Given the description of an element on the screen output the (x, y) to click on. 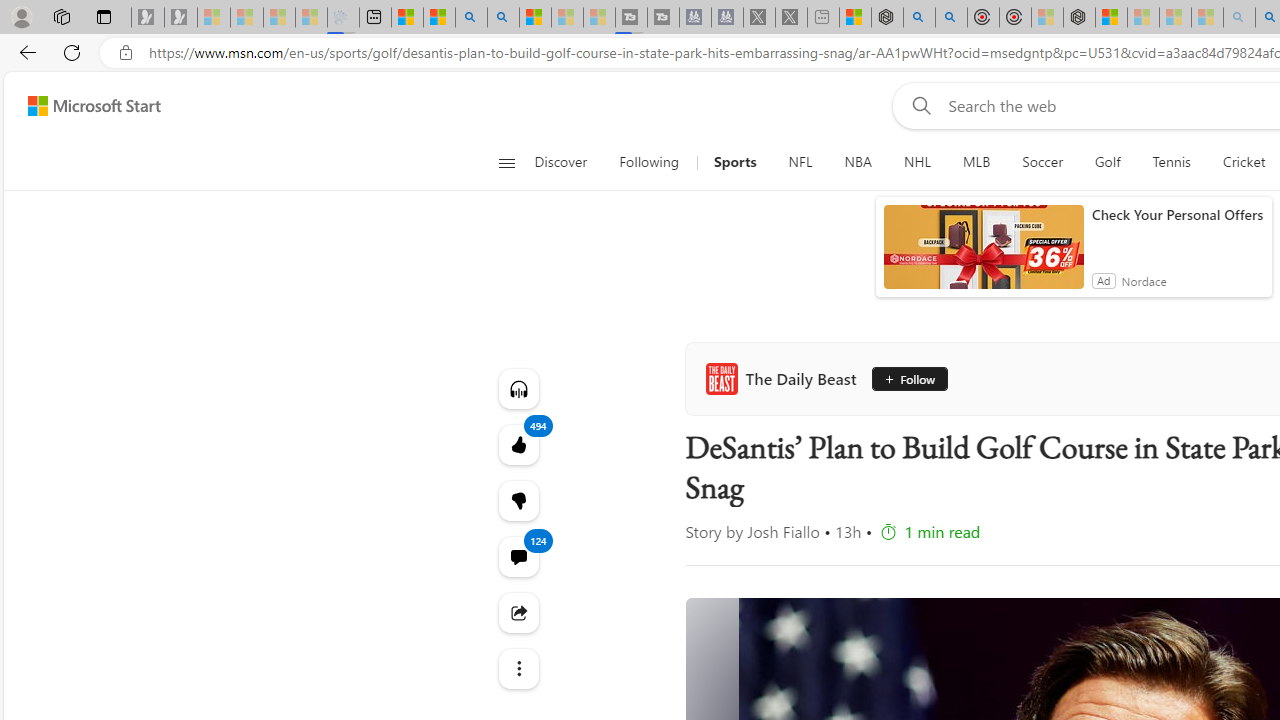
Sports (734, 162)
X - Sleeping (791, 17)
Discover (568, 162)
Following (649, 162)
amazon - Search - Sleeping (1239, 17)
Tennis (1172, 162)
Share this story (517, 612)
Discover (560, 162)
NFL (800, 162)
Follow (906, 378)
